Given the description of an element on the screen output the (x, y) to click on. 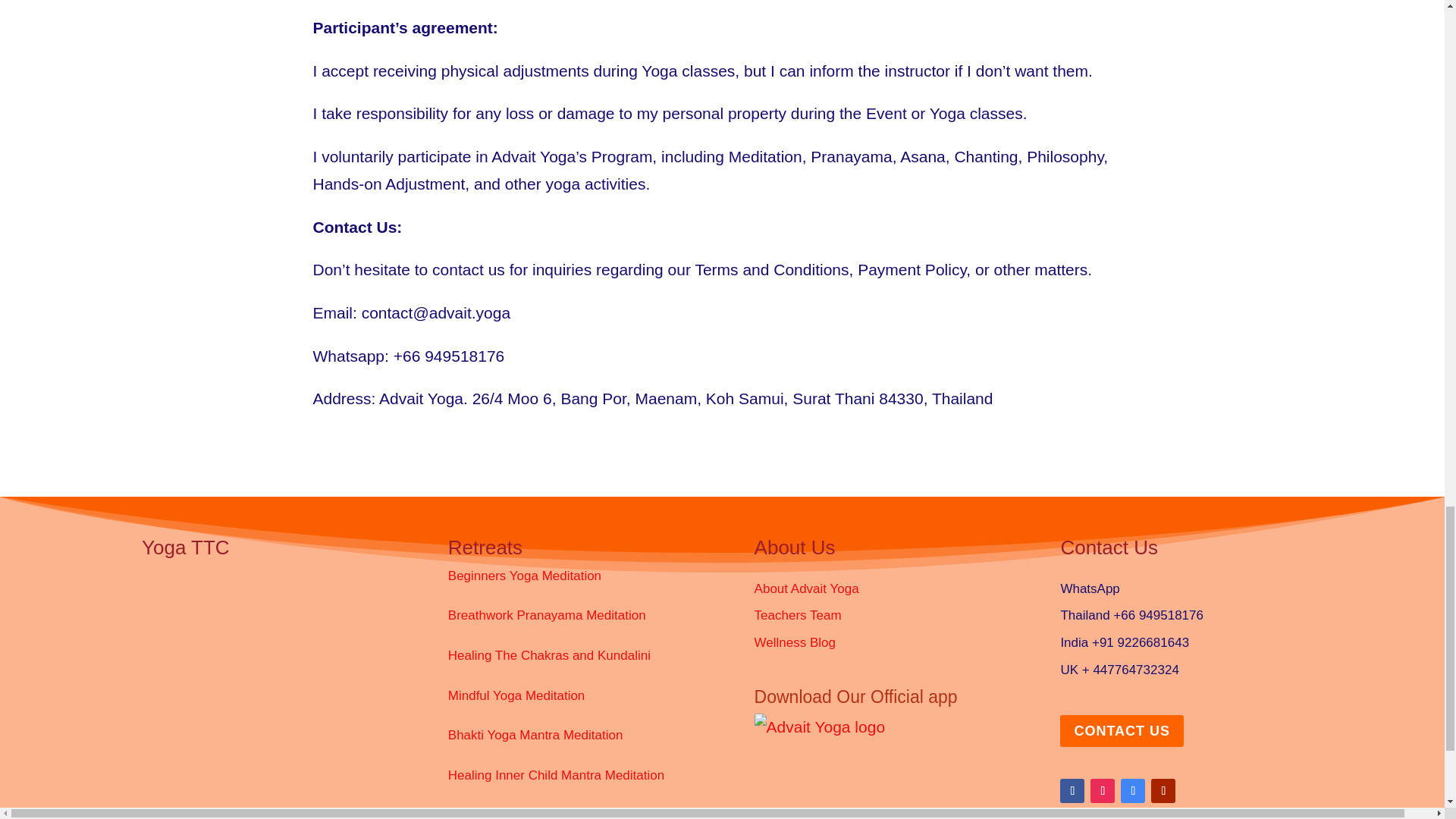
About Advait Yoga (806, 588)
Bhakti Yoga Mantra Meditation (535, 735)
Breathwork Pranayama Meditation (547, 615)
Follow on Youtube (1162, 790)
Follow on Google (1132, 790)
Mindful Yoga Meditation (516, 695)
Healing Relations Yoga Meditation (546, 813)
Beginners Yoga Meditation (524, 575)
Follow on Instagram (1102, 790)
Follow on Facebook (1071, 790)
Teachers Team (797, 615)
Healing Inner Child Mantra Meditation (555, 775)
Wellness Blog (794, 642)
CONTACT US (1121, 730)
